Given the description of an element on the screen output the (x, y) to click on. 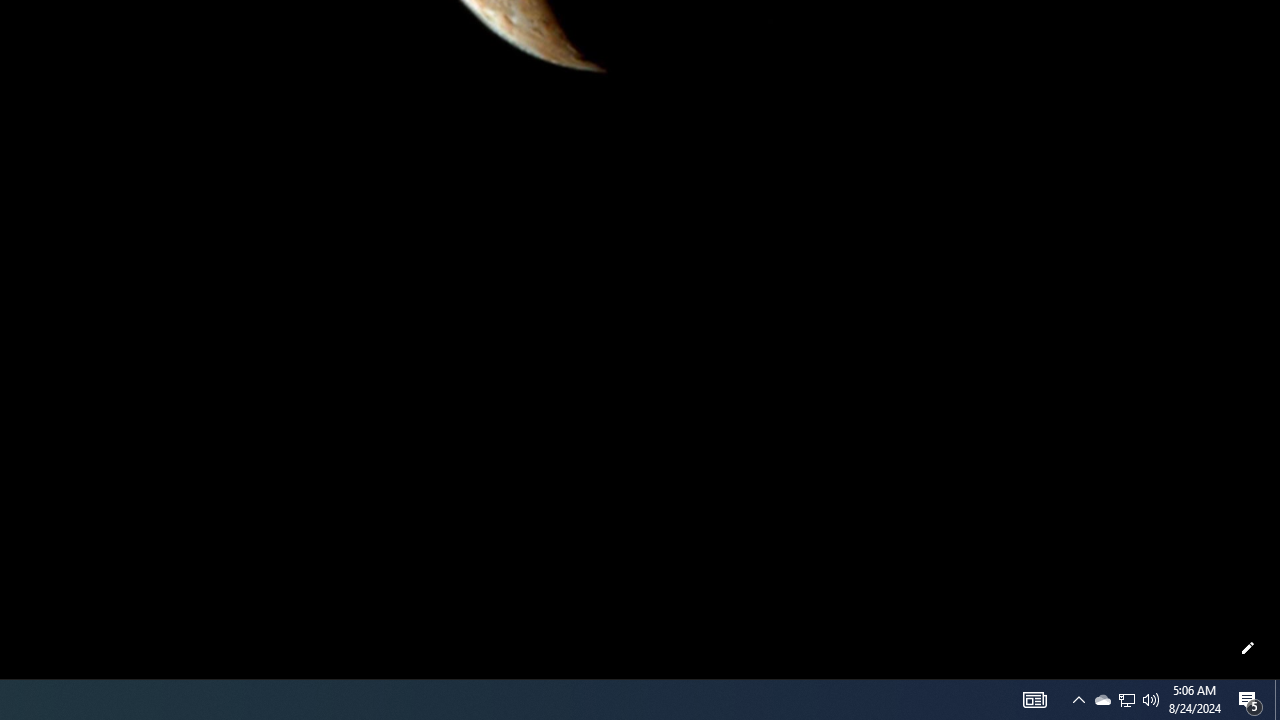
Customize this page (1247, 647)
